Given the description of an element on the screen output the (x, y) to click on. 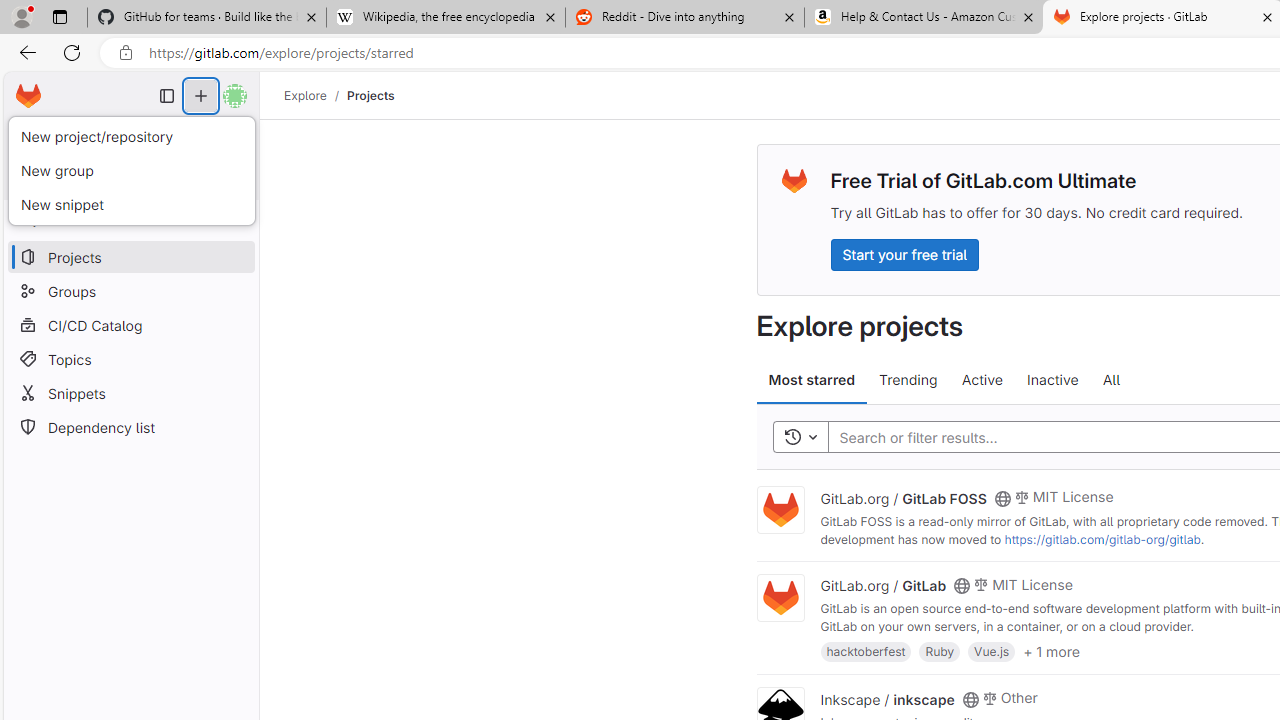
New snippet (131, 204)
https://gitlab.com/gitlab-org/gitlab (1101, 539)
GitLab.org / GitLab FOSS (903, 497)
Projects (370, 95)
Class: project (780, 597)
Most starred (811, 379)
Active (982, 379)
Wikipedia, the free encyclopedia (445, 17)
Class: s16 (970, 699)
New project/repositoryNew groupNew snippet (131, 170)
Inactive (1052, 379)
Snippets (130, 393)
CI/CD Catalog (130, 325)
